Given the description of an element on the screen output the (x, y) to click on. 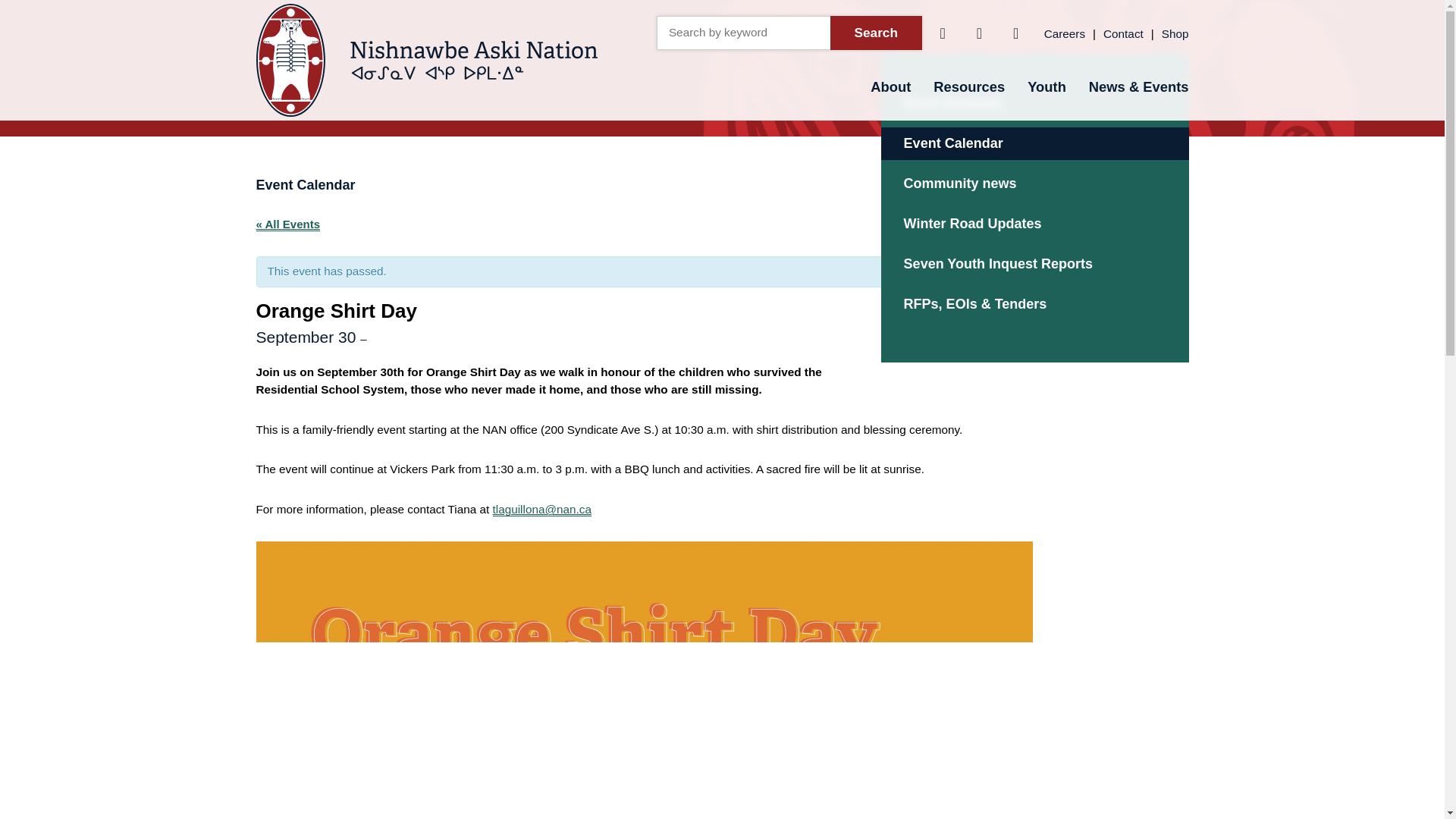
News Releases (1034, 102)
Community news (1034, 183)
Youth (1046, 86)
twitter (978, 31)
instagram (1016, 31)
Resources (968, 86)
Shop (1175, 33)
Winter Road Updates (1034, 224)
facebook (942, 31)
Seven Youth Inquest Reports (1034, 264)
